Given the description of an element on the screen output the (x, y) to click on. 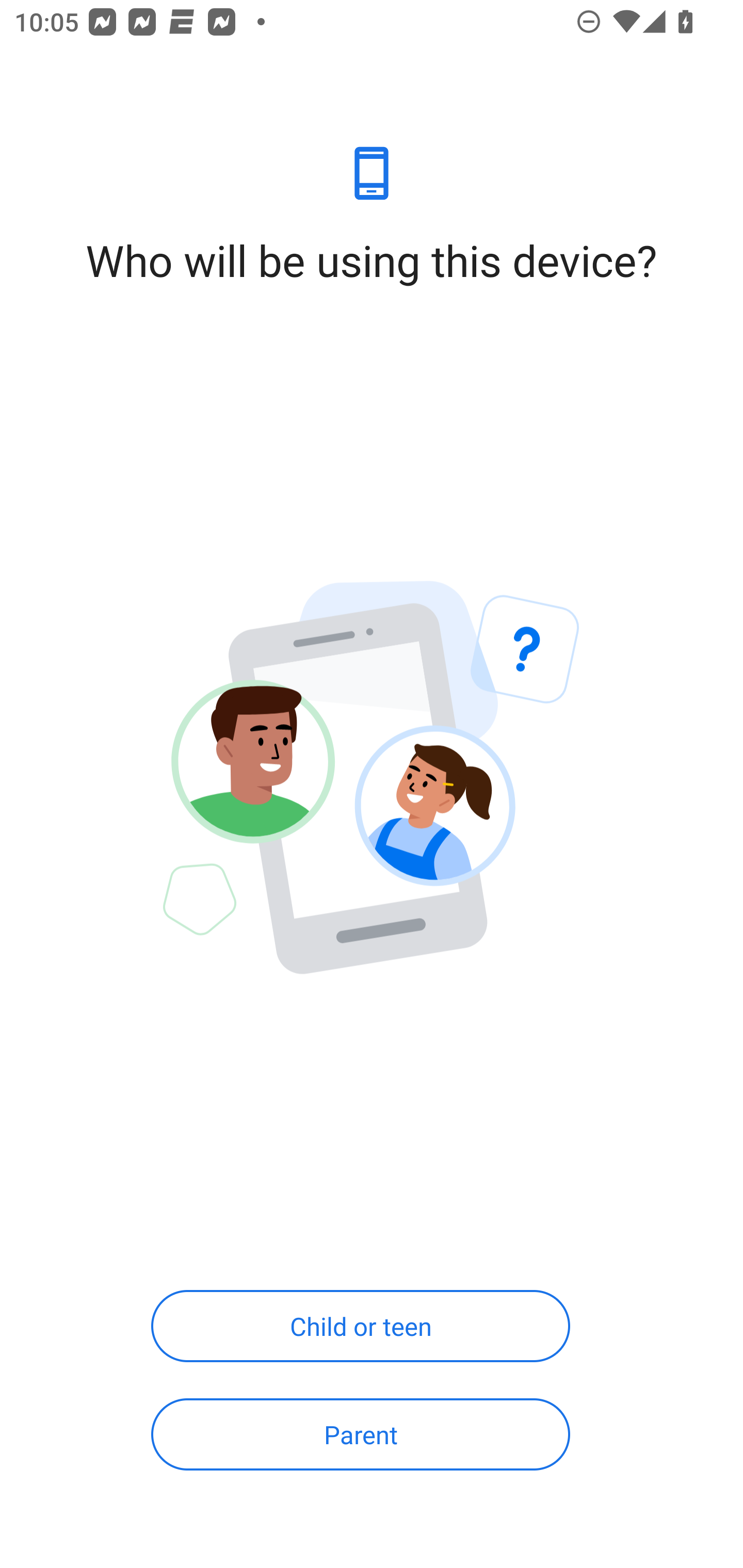
Child or teen (360, 1326)
Parent (360, 1434)
